Given the description of an element on the screen output the (x, y) to click on. 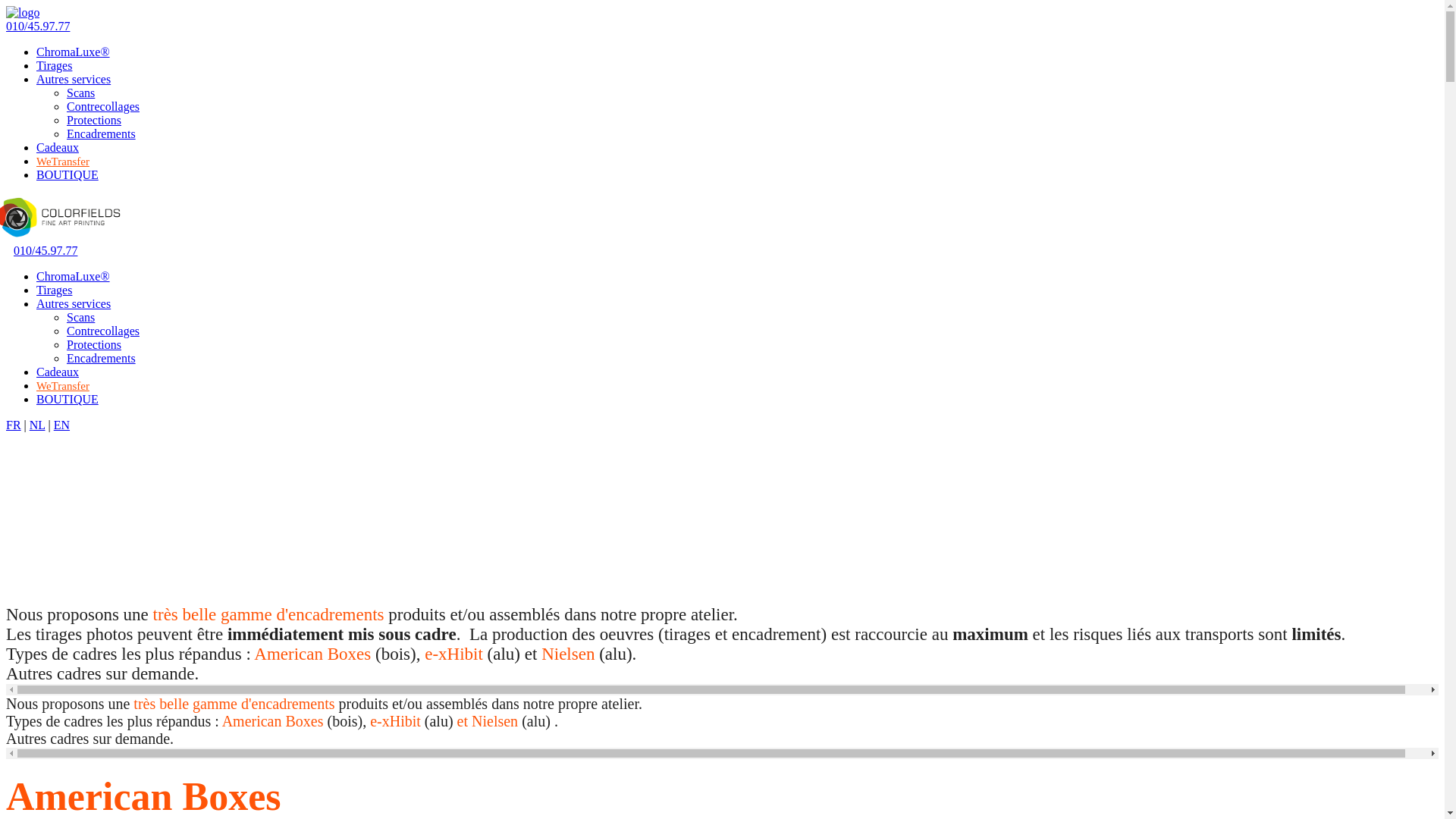
Scans Element type: text (80, 92)
010/45.97.77 Element type: text (37, 25)
BOUTIQUE Element type: text (67, 398)
010/45.97.77 Element type: text (45, 250)
Contrecollages Element type: text (102, 106)
Autres services Element type: text (73, 303)
BOUTIQUE Element type: text (67, 174)
Contrecollages Element type: text (102, 330)
NL Element type: text (37, 424)
WeTransfer Element type: text (62, 385)
Cadeaux Element type: text (57, 371)
Cadeaux Element type: text (57, 147)
Protections Element type: text (93, 119)
Scans Element type: text (80, 316)
Tirages Element type: text (54, 65)
Autres services Element type: text (73, 78)
Encadrements Element type: text (100, 133)
FR Element type: text (13, 424)
WeTransfer Element type: text (62, 161)
Tirages Element type: text (54, 289)
Encadrements Element type: text (100, 357)
Protections Element type: text (93, 344)
EN Element type: text (61, 424)
